Given the description of an element on the screen output the (x, y) to click on. 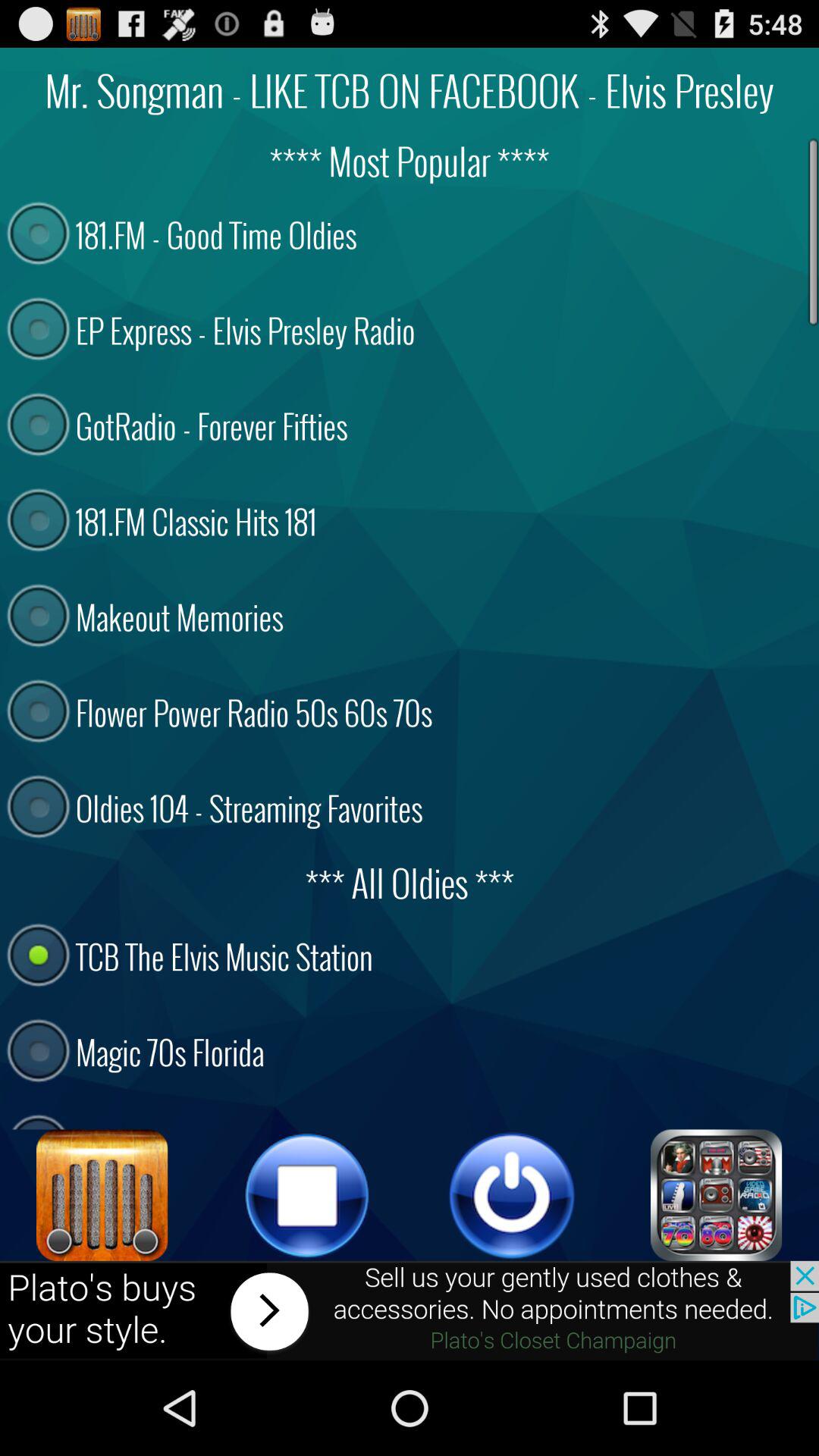
go to apps (716, 1194)
